Given the description of an element on the screen output the (x, y) to click on. 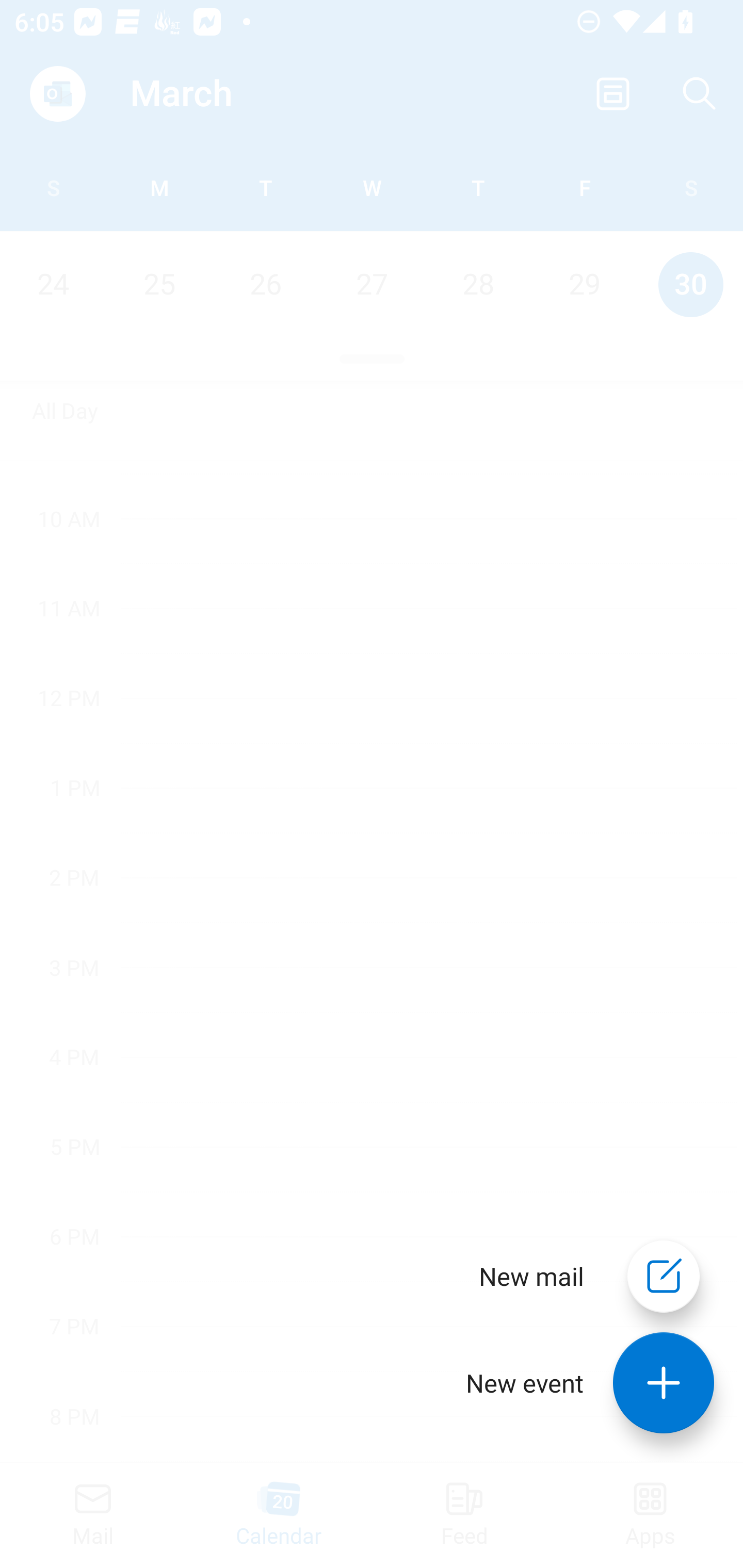
New mail (531, 1275)
New event New event New event (575, 1382)
New event (663, 1382)
